Given the description of an element on the screen output the (x, y) to click on. 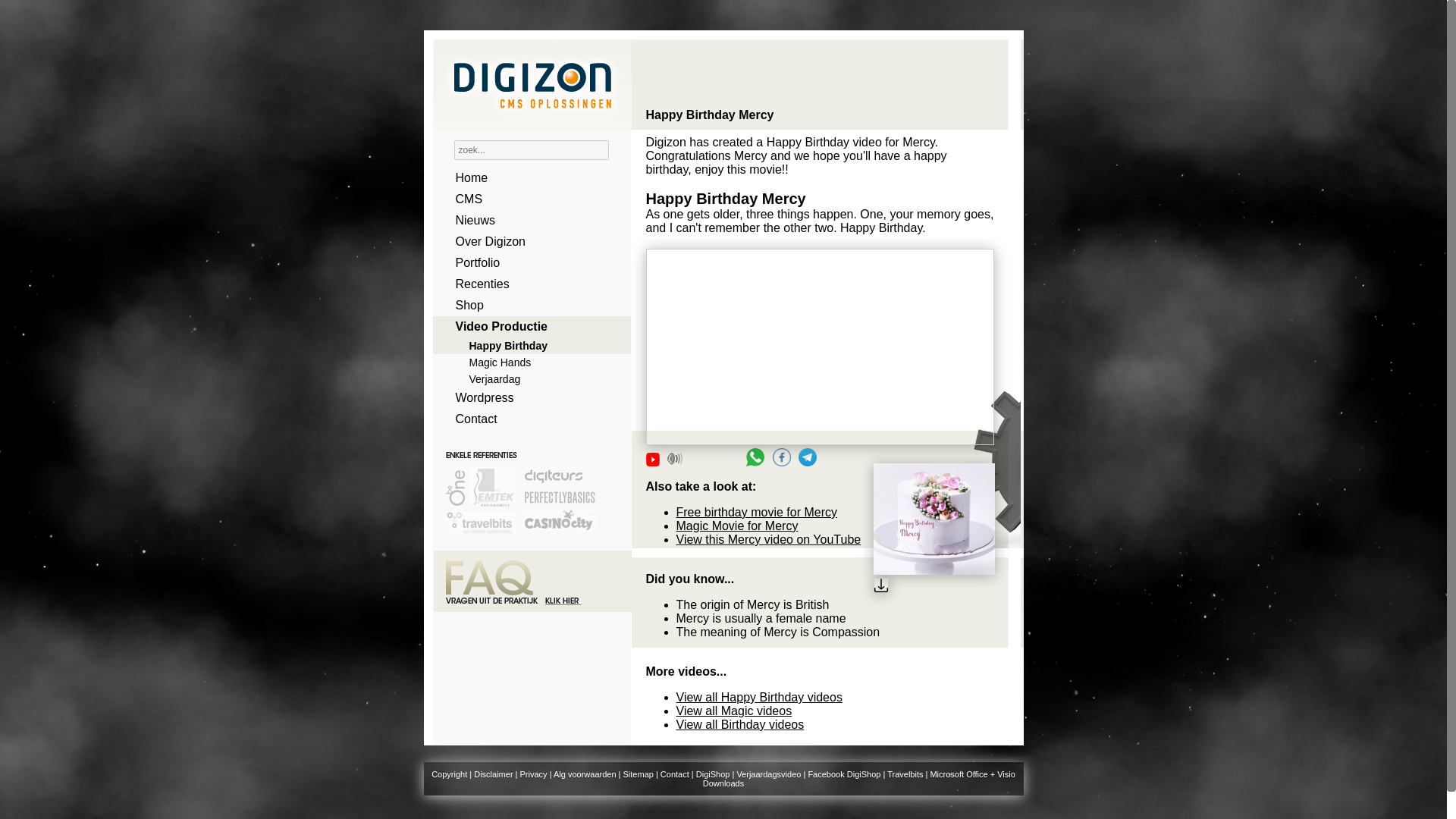
Wordpress (526, 397)
Copyright (448, 773)
View all Birthday videos (741, 724)
Download (933, 587)
View all Magic videos (734, 710)
Happy Birthday (526, 345)
Portfolio (526, 262)
Verjaardagsvideo (768, 773)
Video Productie (526, 326)
Recenties (526, 283)
